Given the description of an element on the screen output the (x, y) to click on. 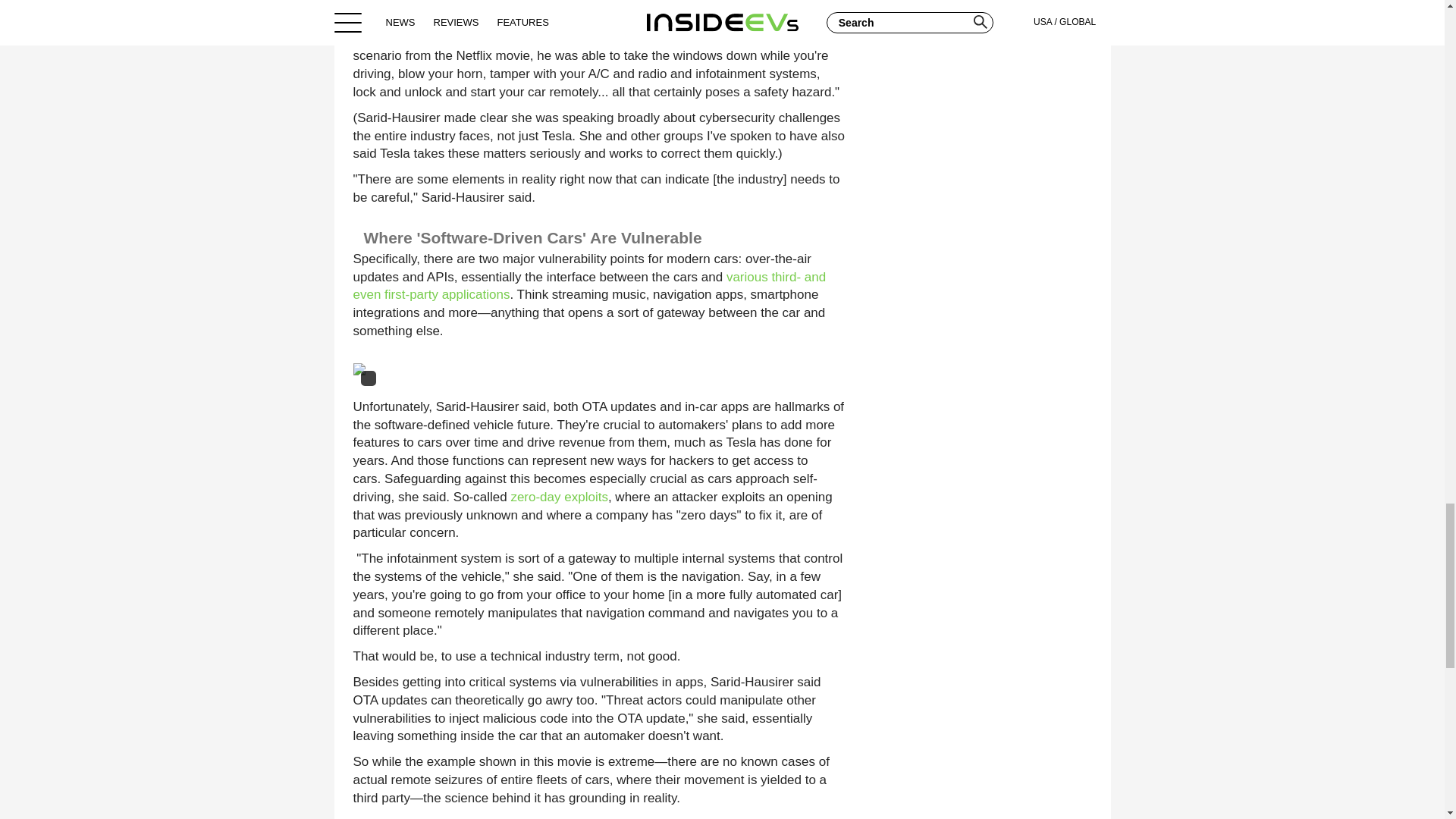
zero-day exploits (559, 496)
various third- and even first-party applications (590, 286)
